Given the description of an element on the screen output the (x, y) to click on. 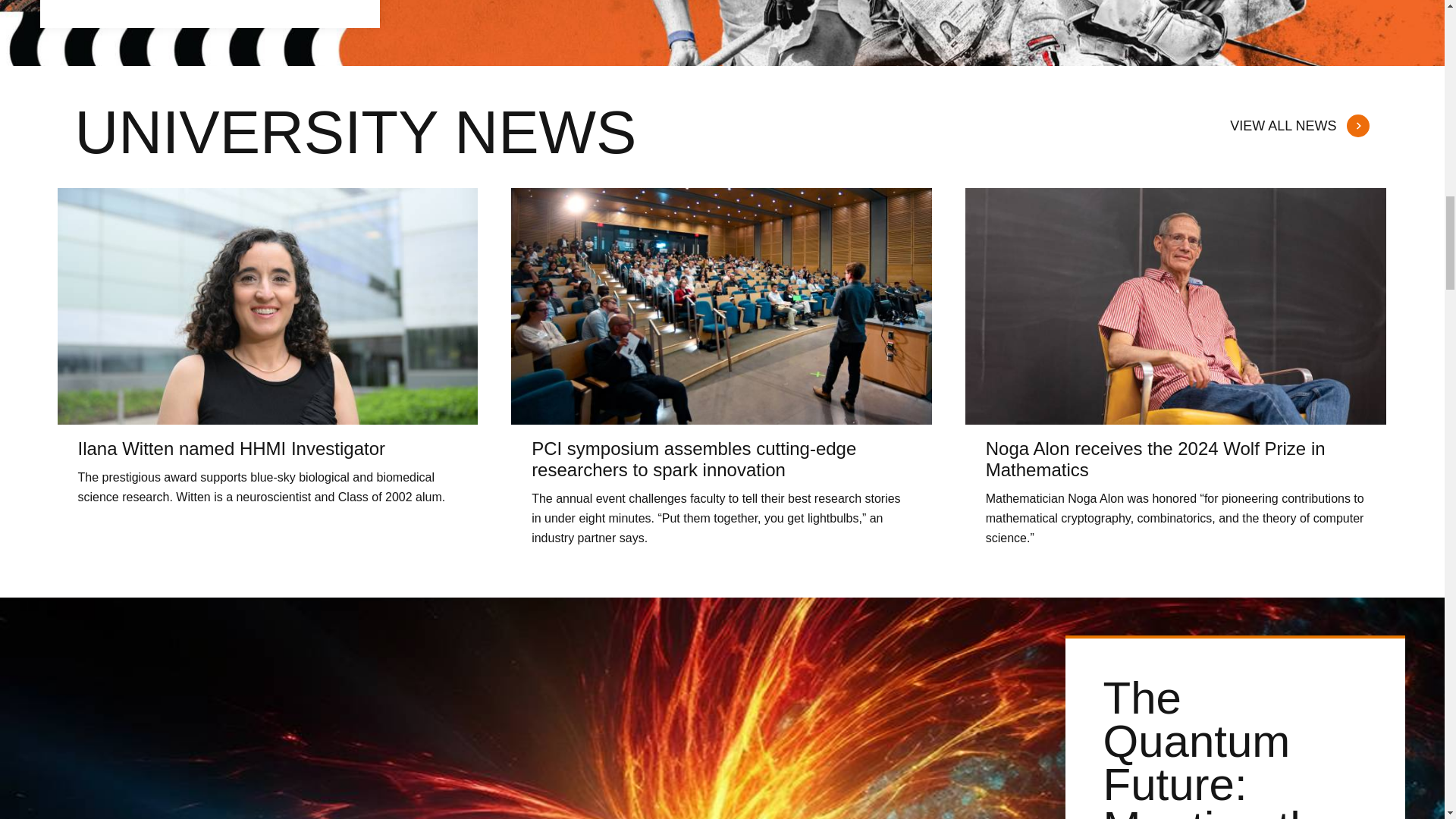
VIEW ALL NEWS (1298, 120)
